Given the description of an element on the screen output the (x, y) to click on. 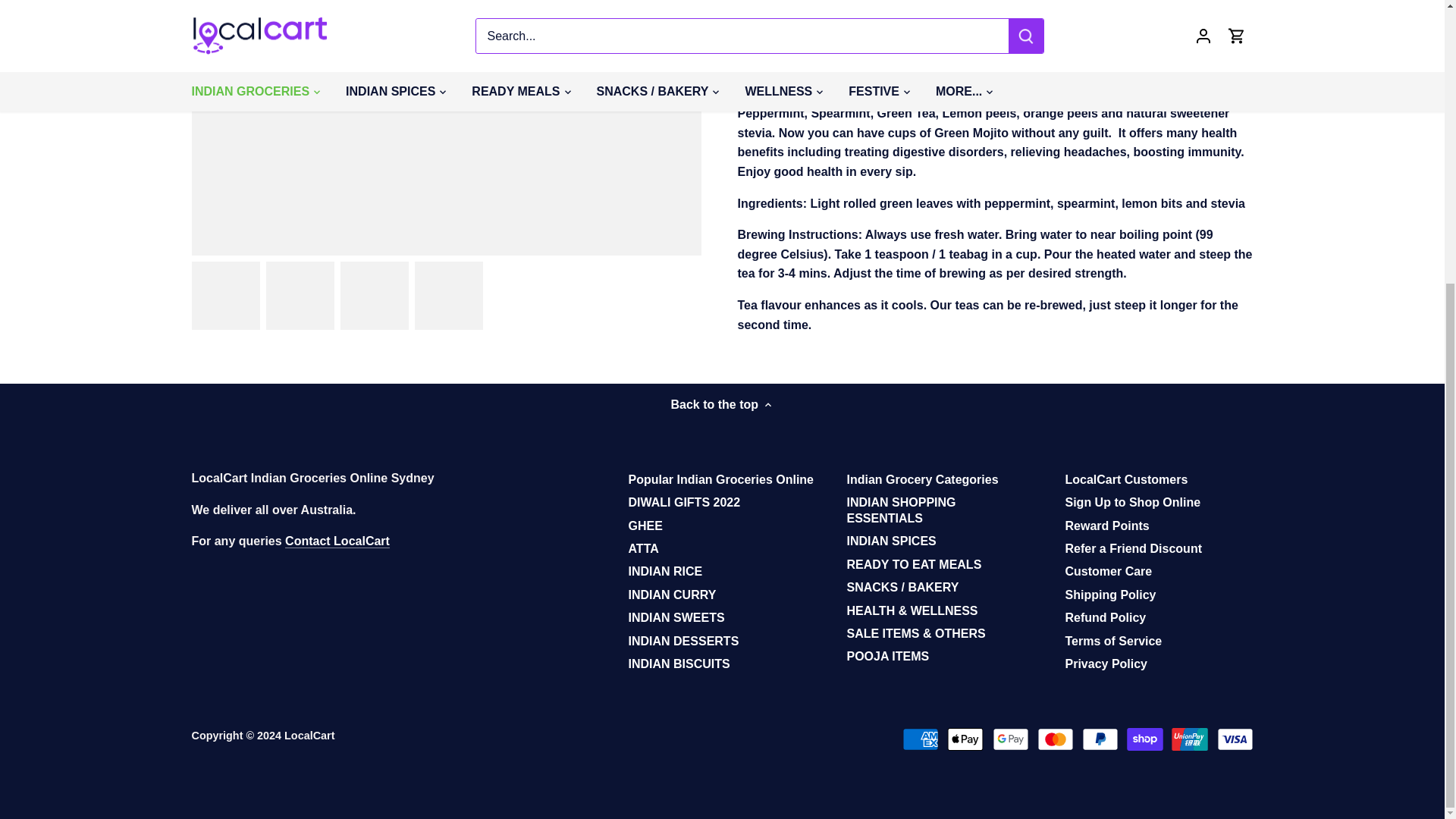
1 (782, 1)
Contact (337, 540)
Shop Pay (1144, 739)
American Express (920, 739)
Google Pay (1010, 739)
PayPal (1099, 739)
Apple Pay (965, 739)
Mastercard (1055, 739)
